Given the description of an element on the screen output the (x, y) to click on. 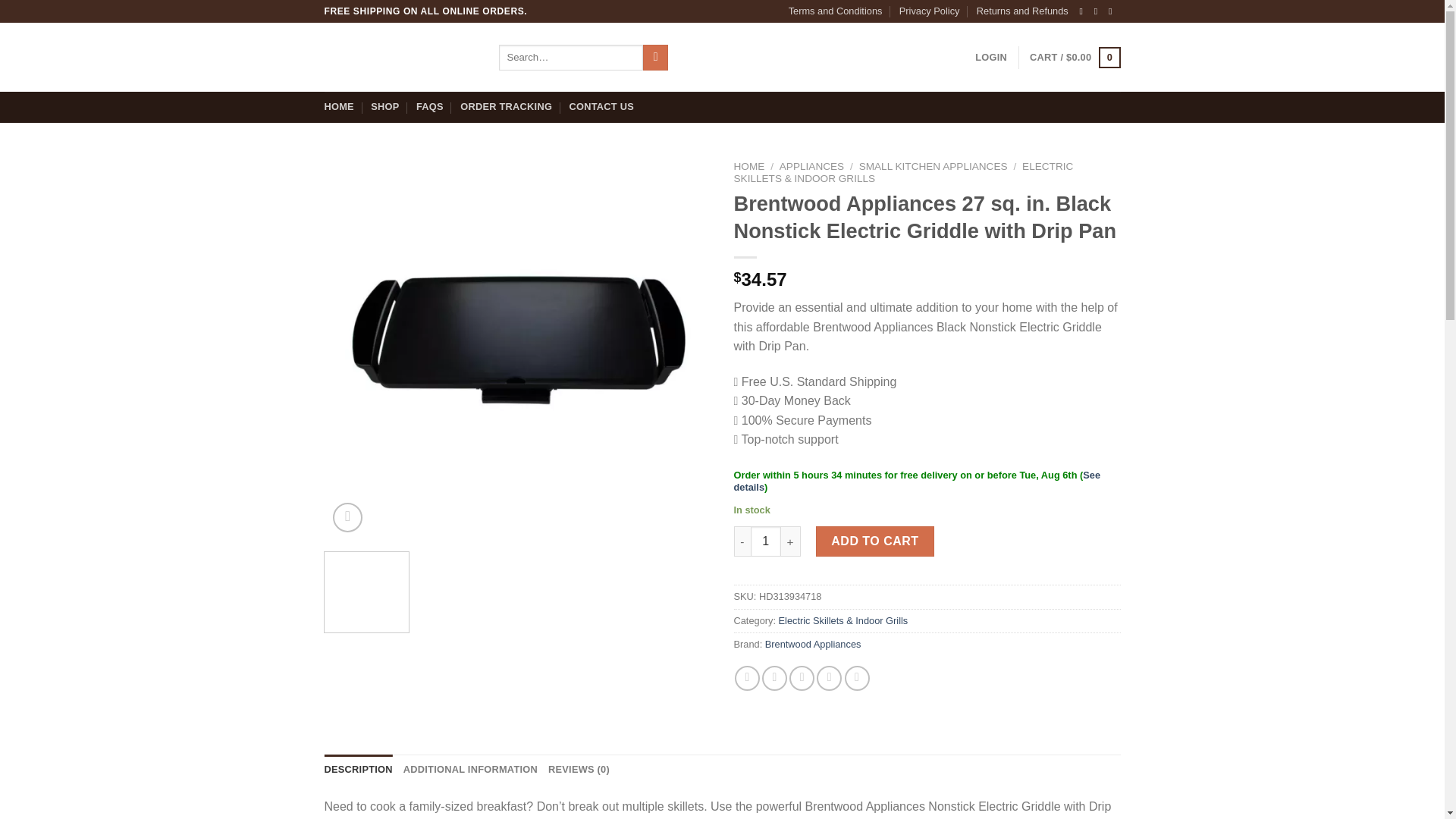
HOME (749, 165)
Terms and Conditions (835, 11)
SMALL KITCHEN APPLIANCES (933, 165)
Cart (1074, 57)
XDC Depot (400, 58)
FAQS (430, 106)
Zoom (347, 517)
HOME (338, 106)
ORDER TRACKING (505, 106)
Search (655, 57)
Share on Twitter (774, 678)
1 (765, 541)
Privacy Policy (929, 11)
